Given the description of an element on the screen output the (x, y) to click on. 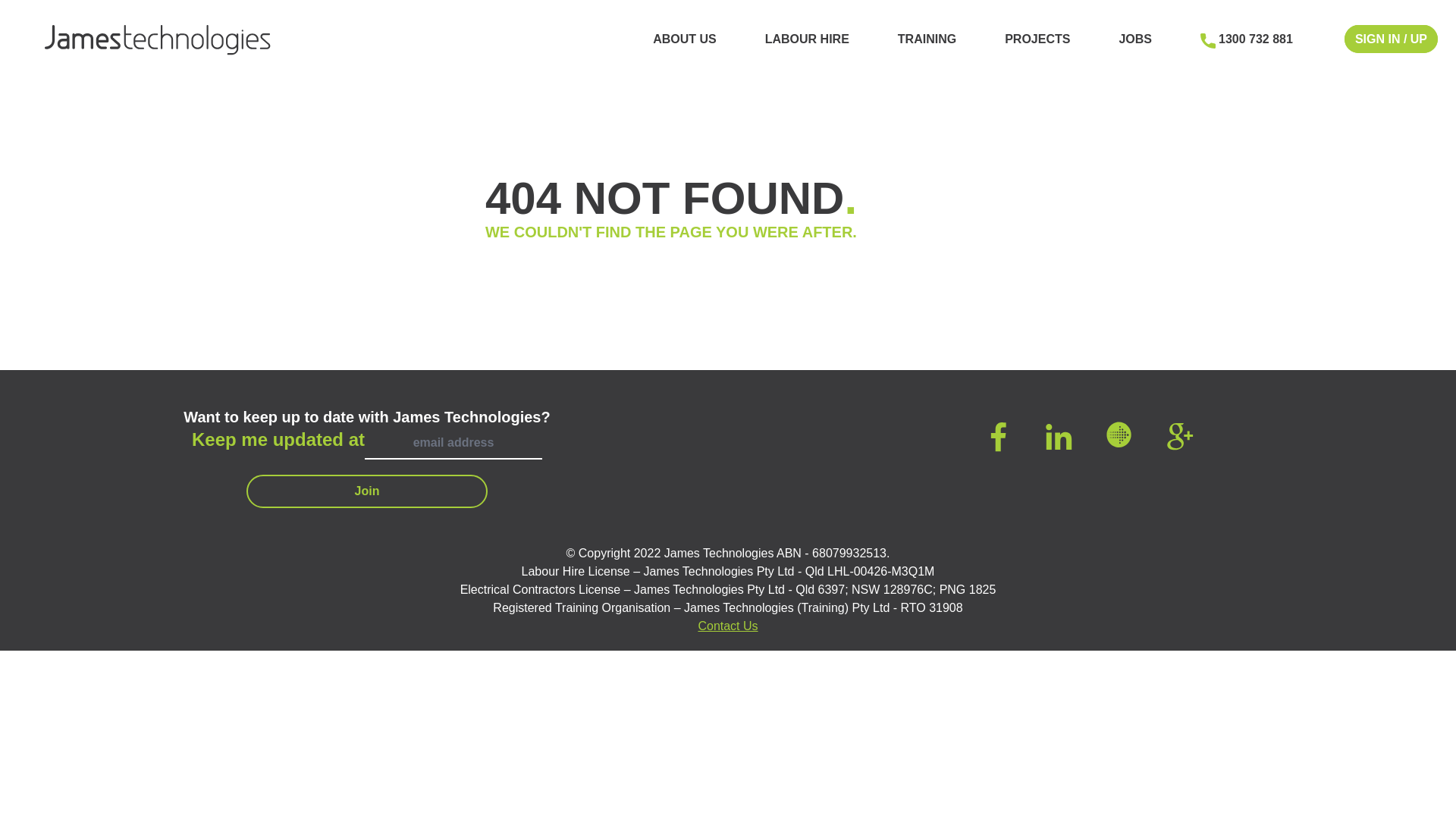
RTO 31908 Element type: text (931, 607)
Contact Us Element type: text (727, 625)
SIGN IN / UP Element type: text (1390, 39)
Join Element type: text (366, 491)
ABOUT US Element type: text (684, 39)
PROJECTS Element type: text (1037, 39)
1300 732 881 Element type: text (1252, 39)
TRAINING Element type: text (926, 39)
LABOUR HIRE Element type: text (807, 39)
JOBS Element type: text (1135, 39)
